Given the description of an element on the screen output the (x, y) to click on. 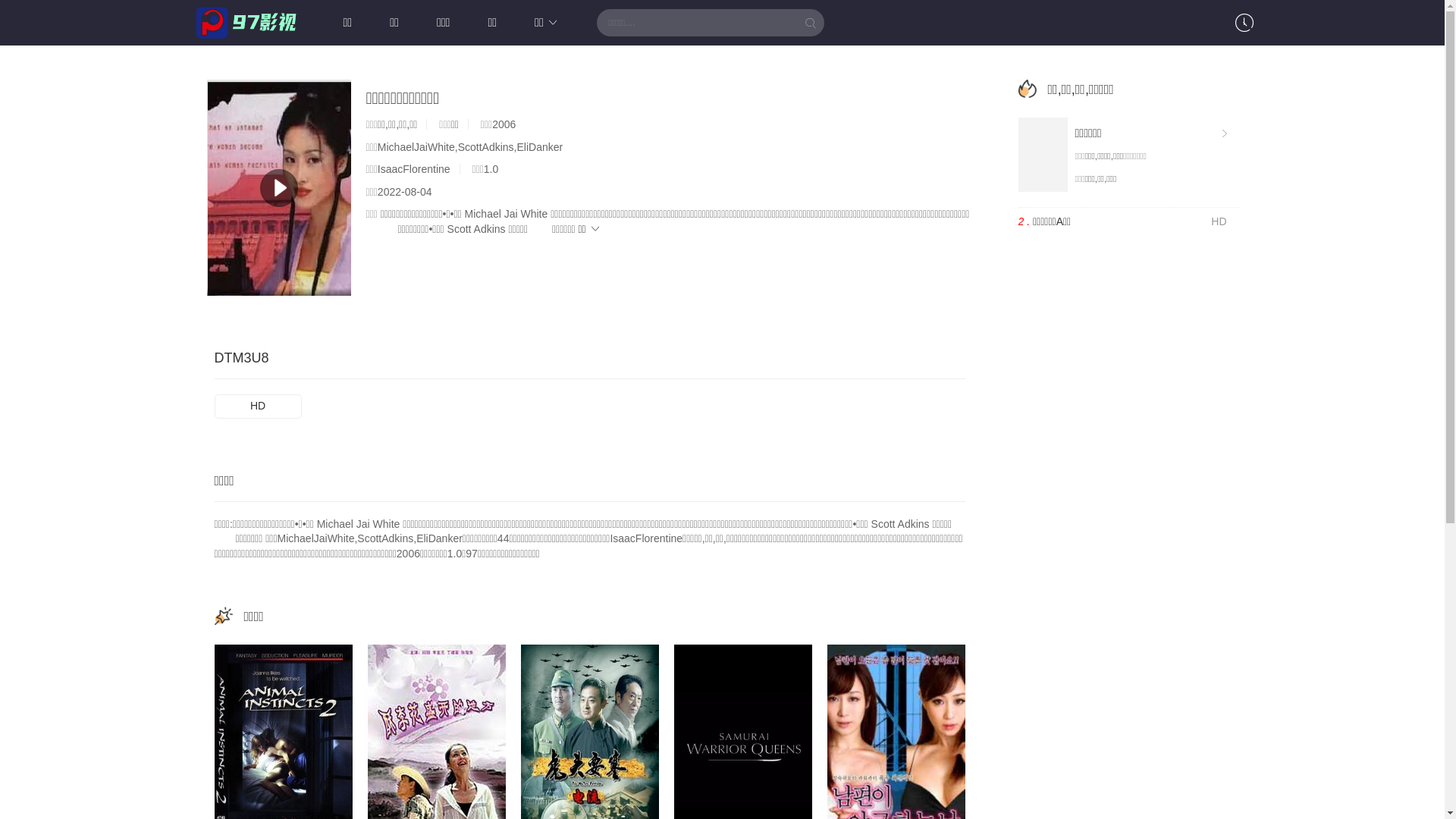
HD Element type: text (257, 406)
